Given the description of an element on the screen output the (x, y) to click on. 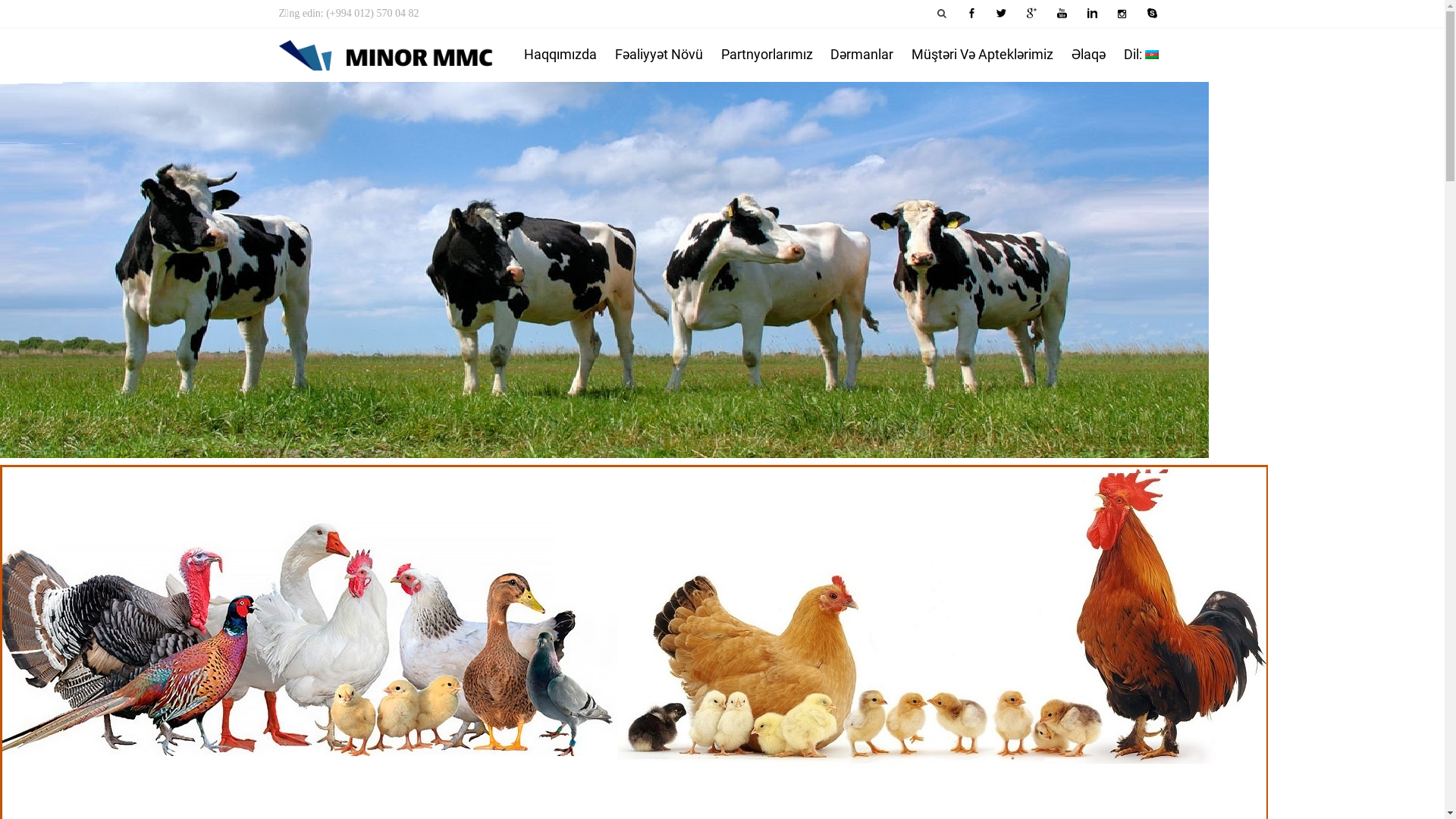
Google Plus Element type: hover (1030, 13)
Dil:  Element type: text (1141, 54)
Linkedin Element type: hover (1091, 13)
instagram Element type: hover (1121, 13)
Twitter Element type: hover (1001, 13)
Facebook Element type: hover (971, 13)
Youtube Element type: hover (1061, 13)
Skype Element type: hover (1152, 13)
